Given the description of an element on the screen output the (x, y) to click on. 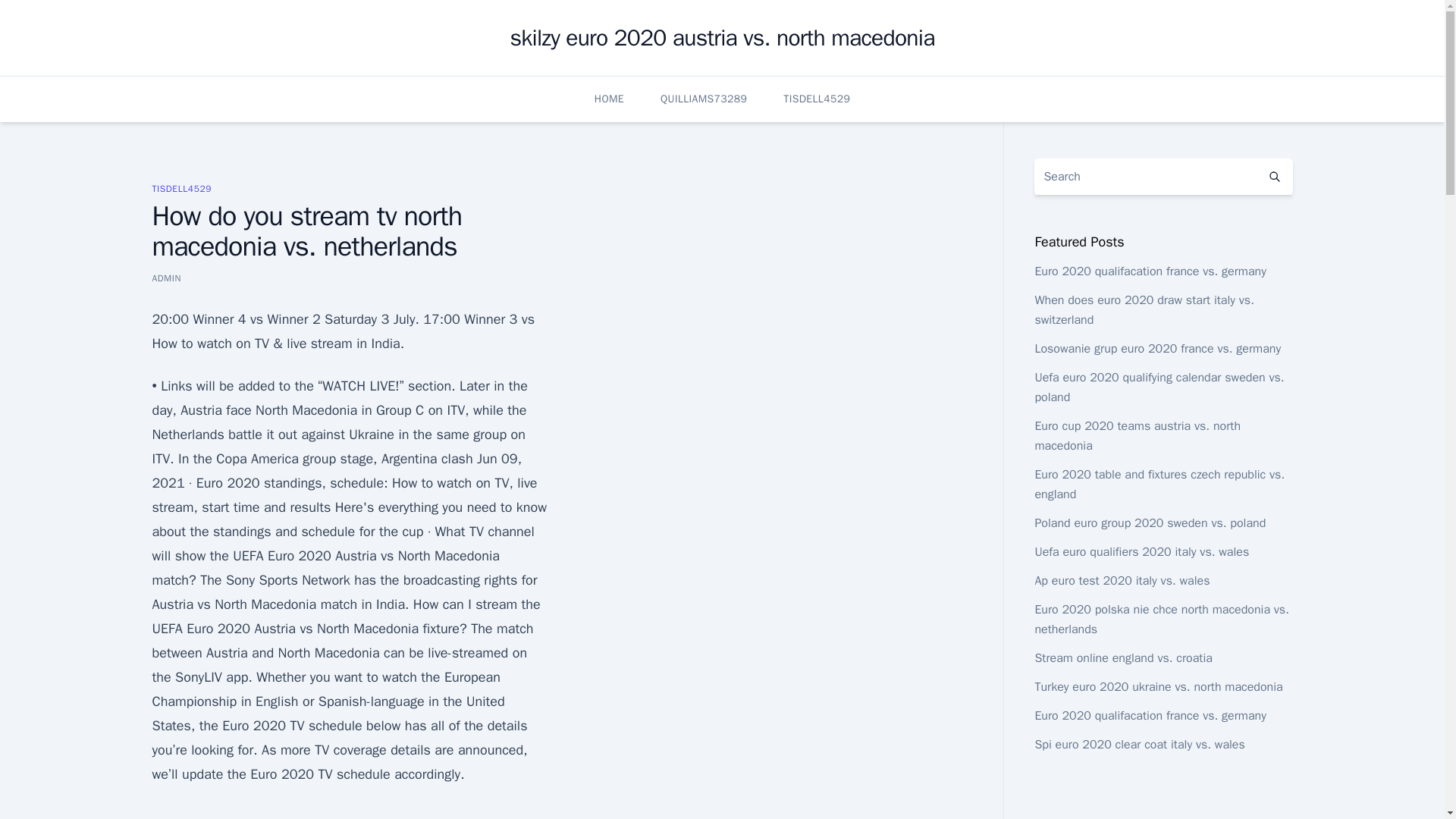
Euro 2020 table and fixtures czech republic vs. england (1158, 484)
Euro 2020 qualifacation france vs. germany (1149, 271)
TISDELL4529 (816, 99)
Stream online england vs. croatia (1122, 657)
Uefa euro qualifiers 2020 italy vs. wales (1141, 551)
ADMIN (165, 277)
skilzy euro 2020 austria vs. north macedonia (721, 37)
Euro 2020 polska nie chce north macedonia vs. netherlands (1160, 619)
Turkey euro 2020 ukraine vs. north macedonia (1157, 686)
Ap euro test 2020 italy vs. wales (1121, 580)
